Given the description of an element on the screen output the (x, y) to click on. 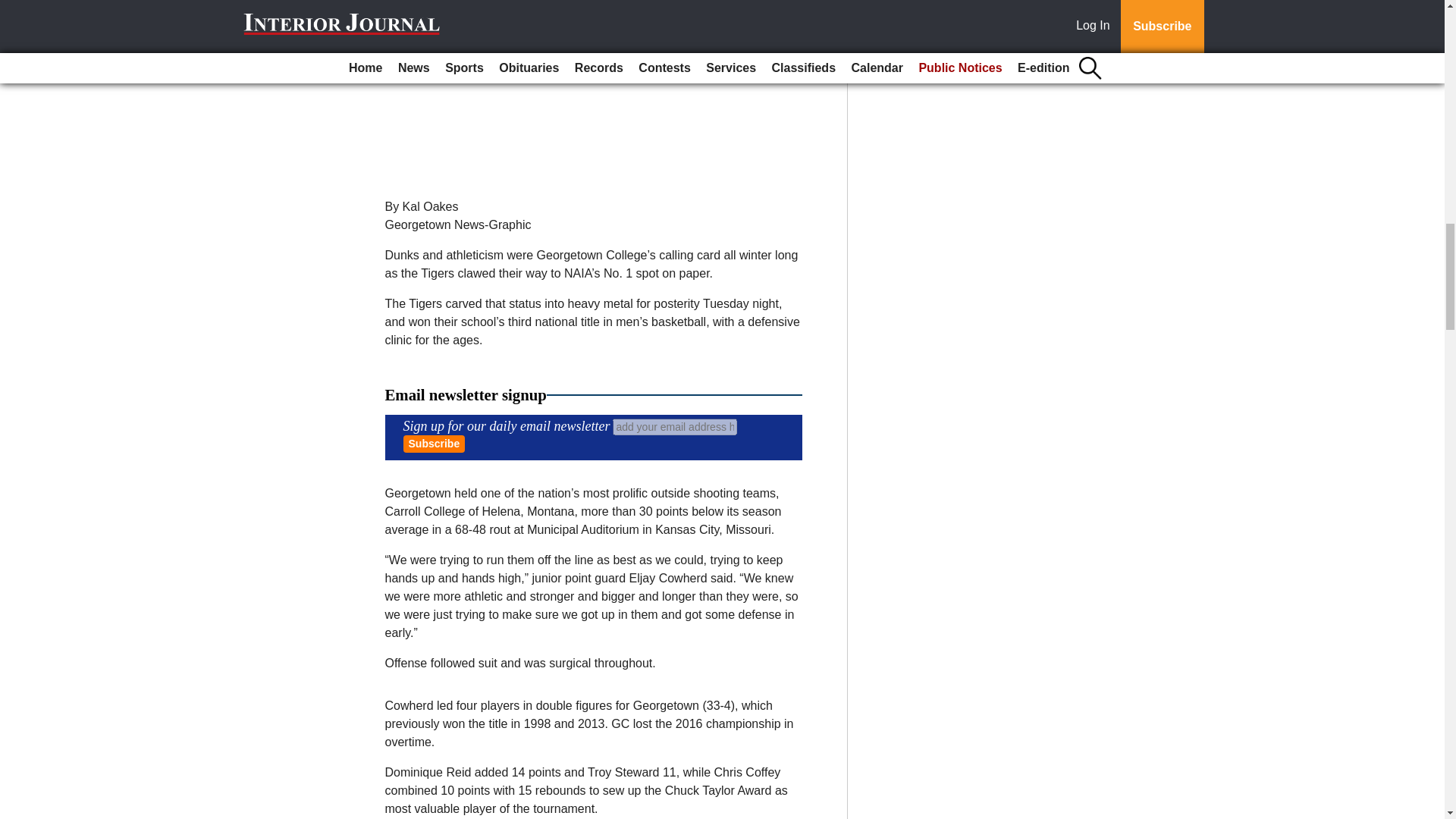
Subscribe (434, 443)
Subscribe (434, 443)
